Given the description of an element on the screen output the (x, y) to click on. 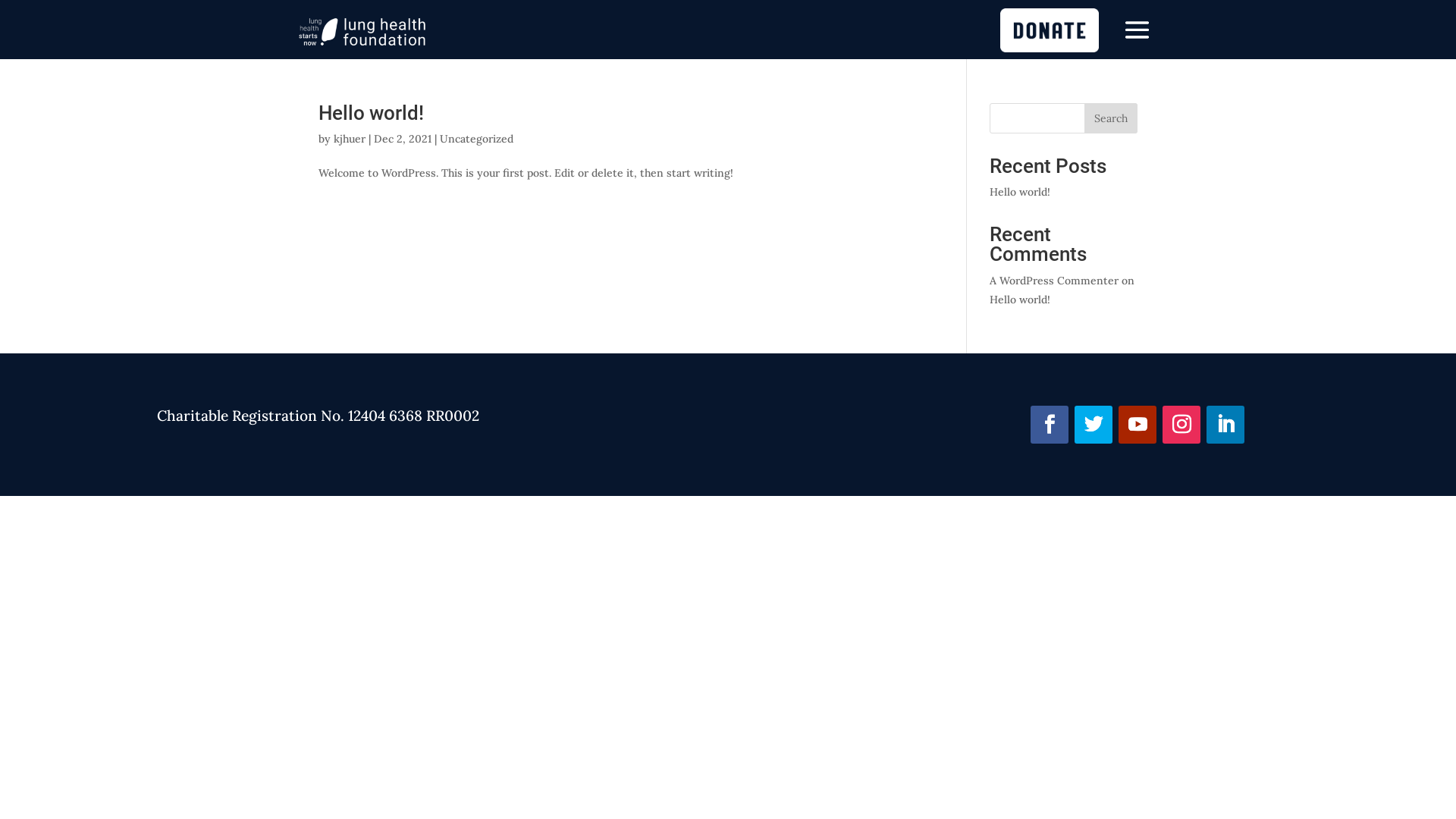
Search Element type: text (1110, 118)
A WordPress Commenter Element type: text (1053, 280)
Hello world! Element type: text (370, 112)
Uncategorized Element type: text (476, 138)
kjhuer Element type: text (349, 138)
Instagram Element type: text (1181, 424)
Skip to content Element type: text (0, 0)
Facebook Element type: text (1049, 424)
lhf_reverselogo_RGB Element type: hover (361, 31)
LinkedIn Element type: text (1225, 424)
YouTube Element type: text (1137, 424)
Hello world! Element type: text (1019, 299)
Twitter Element type: text (1093, 424)
Hello world! Element type: text (1019, 191)
